Given the description of an element on the screen output the (x, y) to click on. 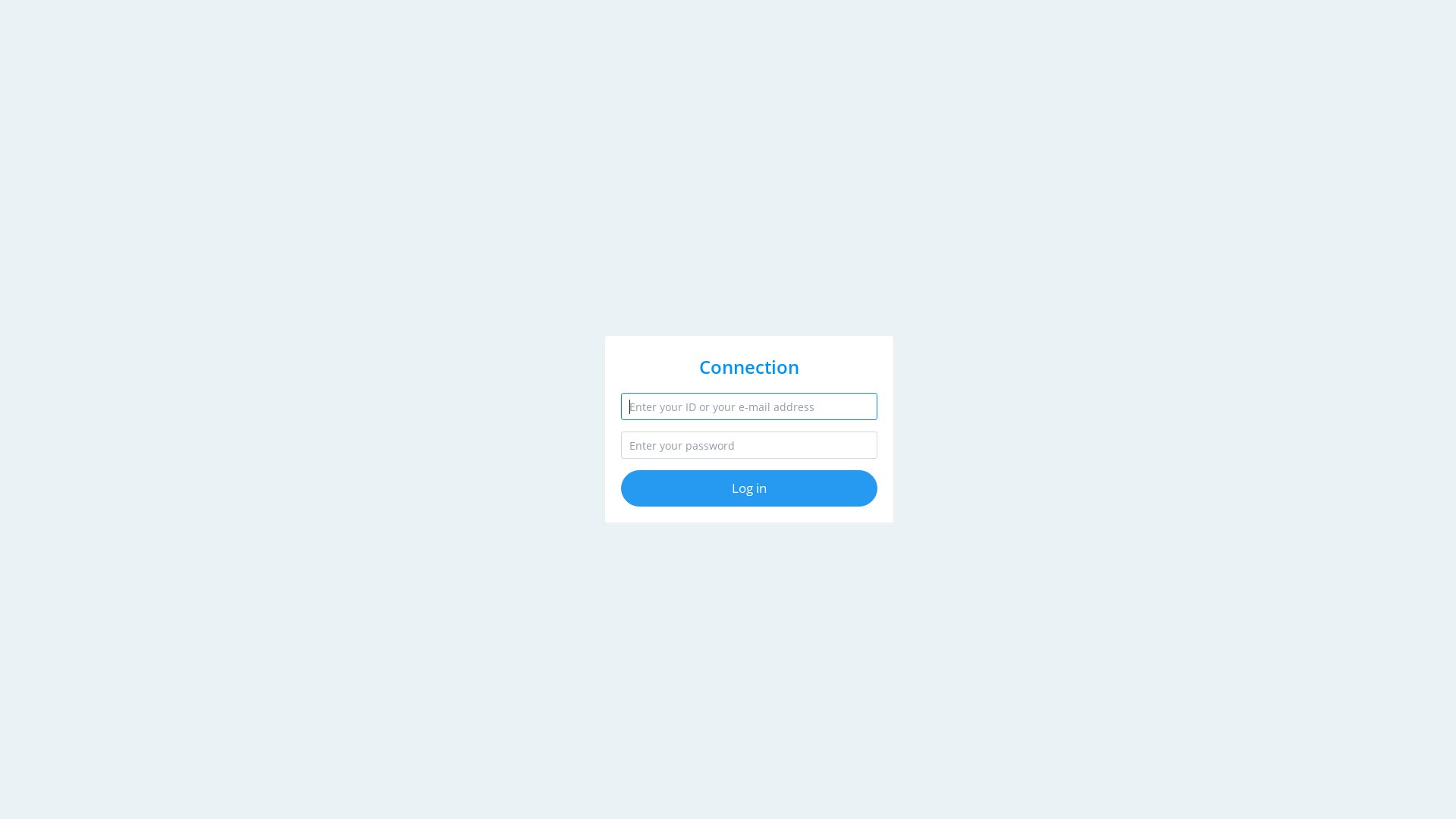
Log in Element type: text (749, 488)
